Given the description of an element on the screen output the (x, y) to click on. 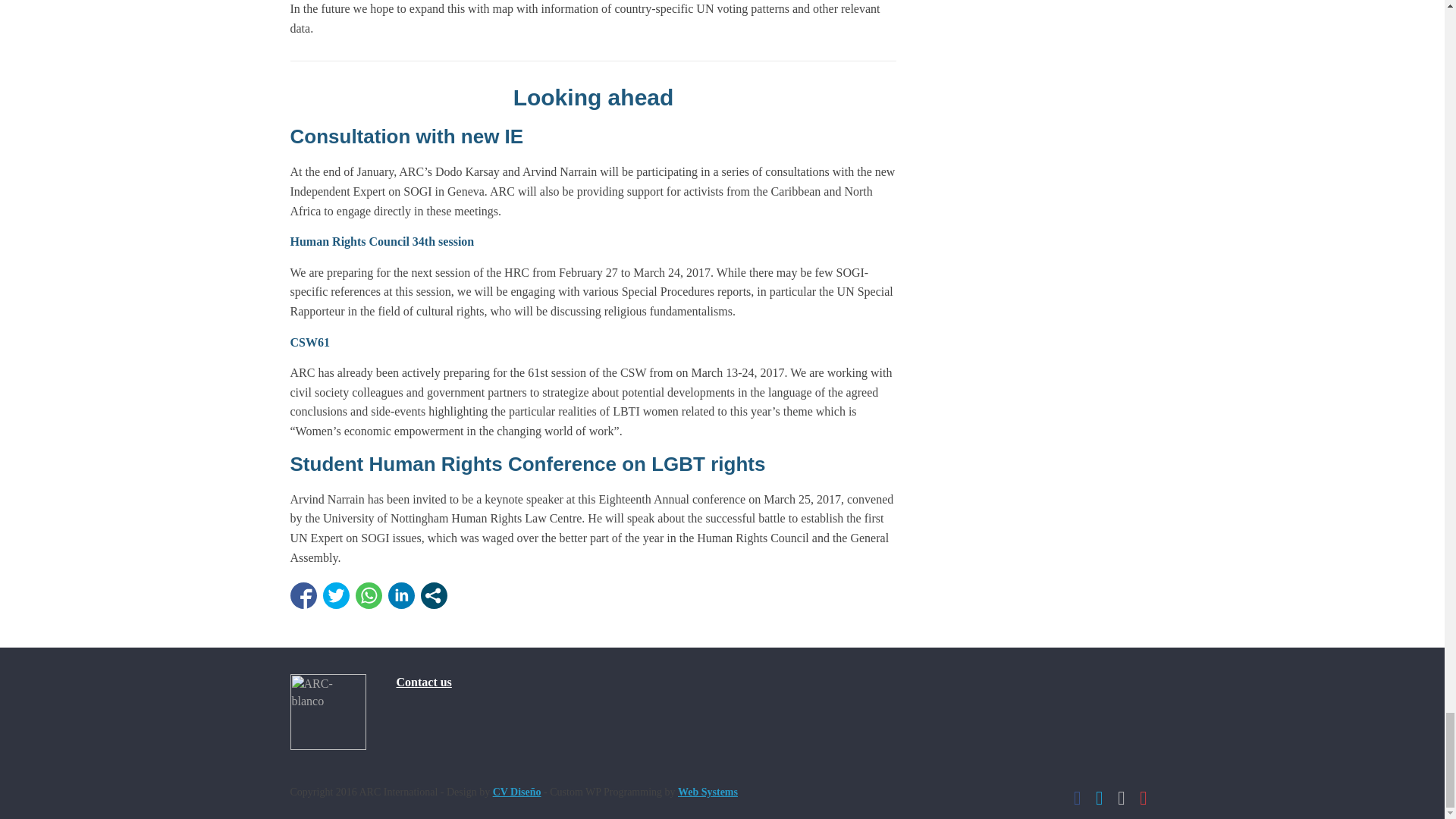
Open modal social networks (433, 595)
Share on WhatsApp (368, 595)
Share on Linkedin (401, 595)
Share on Facebook (302, 595)
Tweet (336, 595)
